Given the description of an element on the screen output the (x, y) to click on. 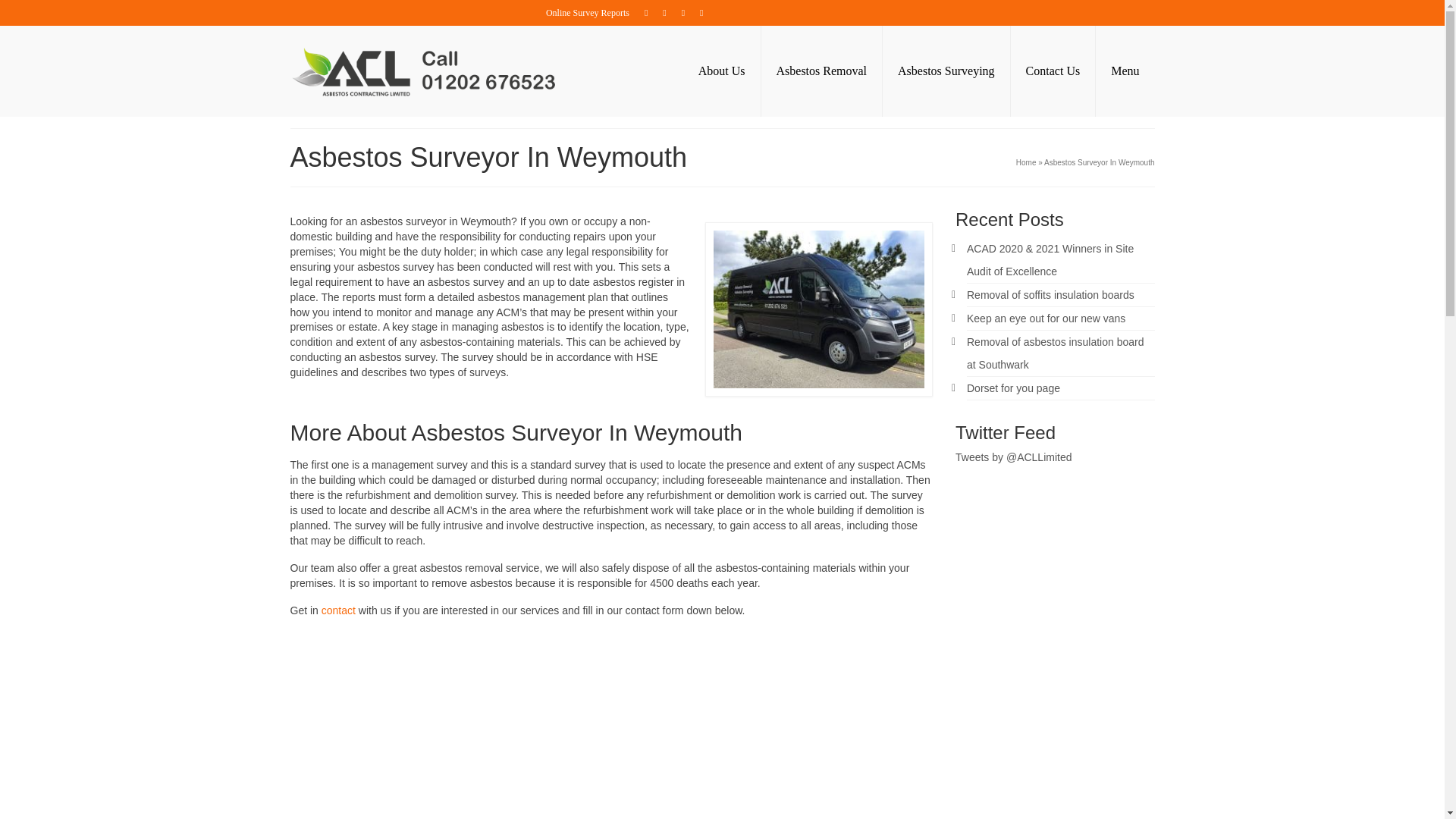
Asbestos Contracting Limited  (425, 71)
Online Survey Reports (587, 12)
Asbestos Removal (821, 71)
Asbestos Surveying (946, 71)
Contact Us (1053, 71)
